Given the description of an element on the screen output the (x, y) to click on. 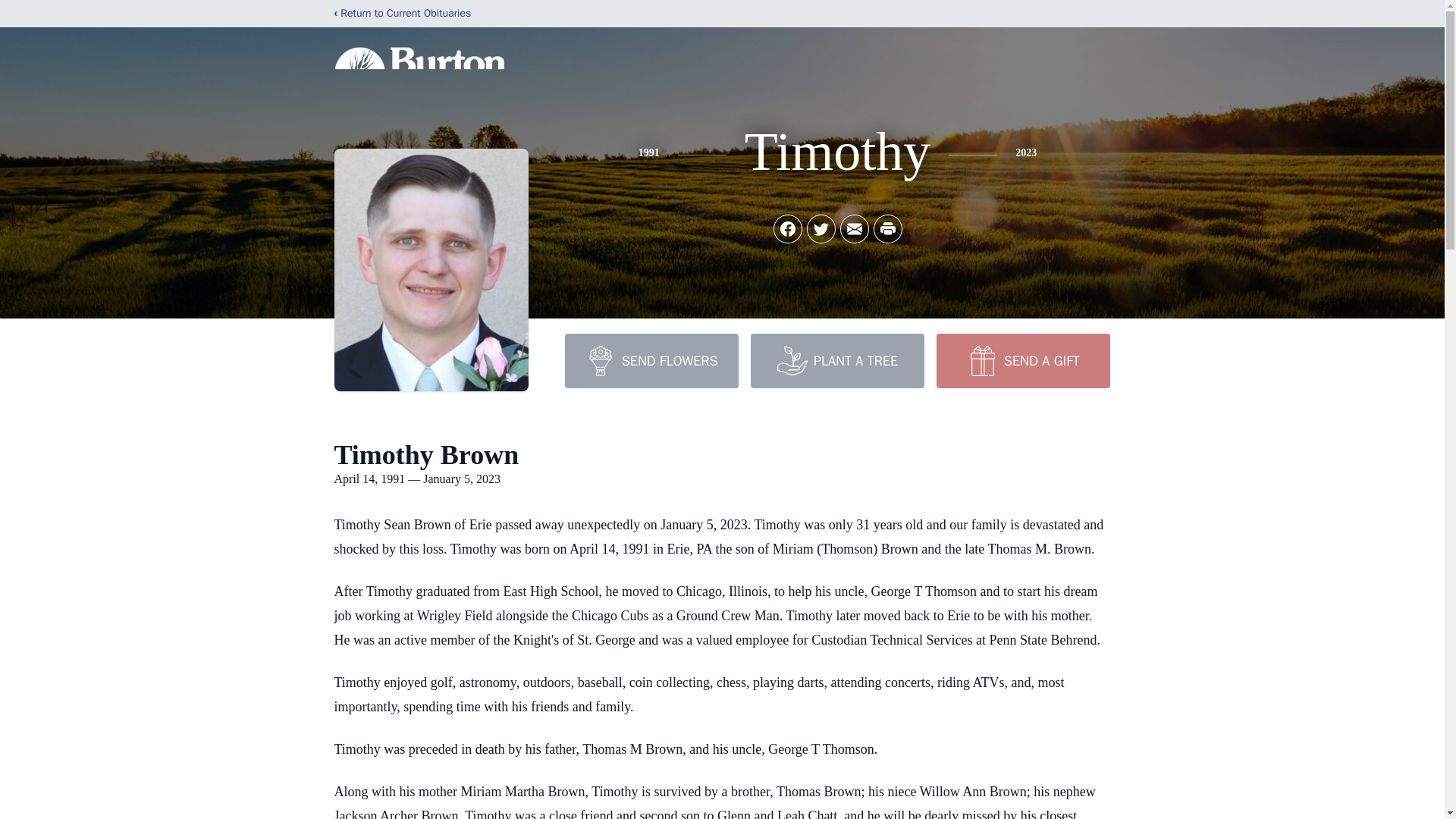
SEND A GIFT (1022, 360)
PLANT A TREE (837, 360)
SEND FLOWERS (651, 360)
